Given the description of an element on the screen output the (x, y) to click on. 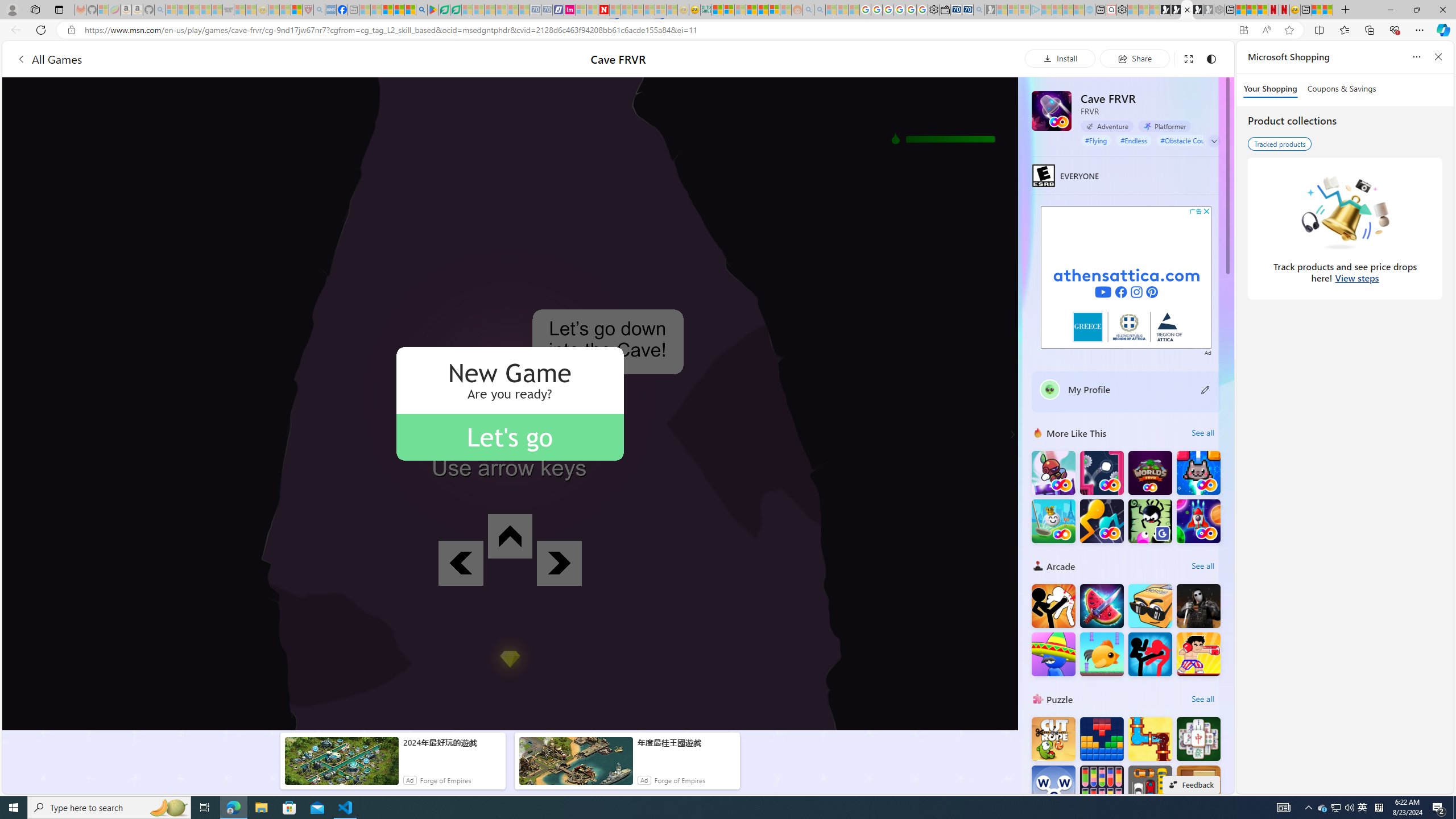
anim-content (576, 765)
Ad (1207, 351)
